Given the description of an element on the screen output the (x, y) to click on. 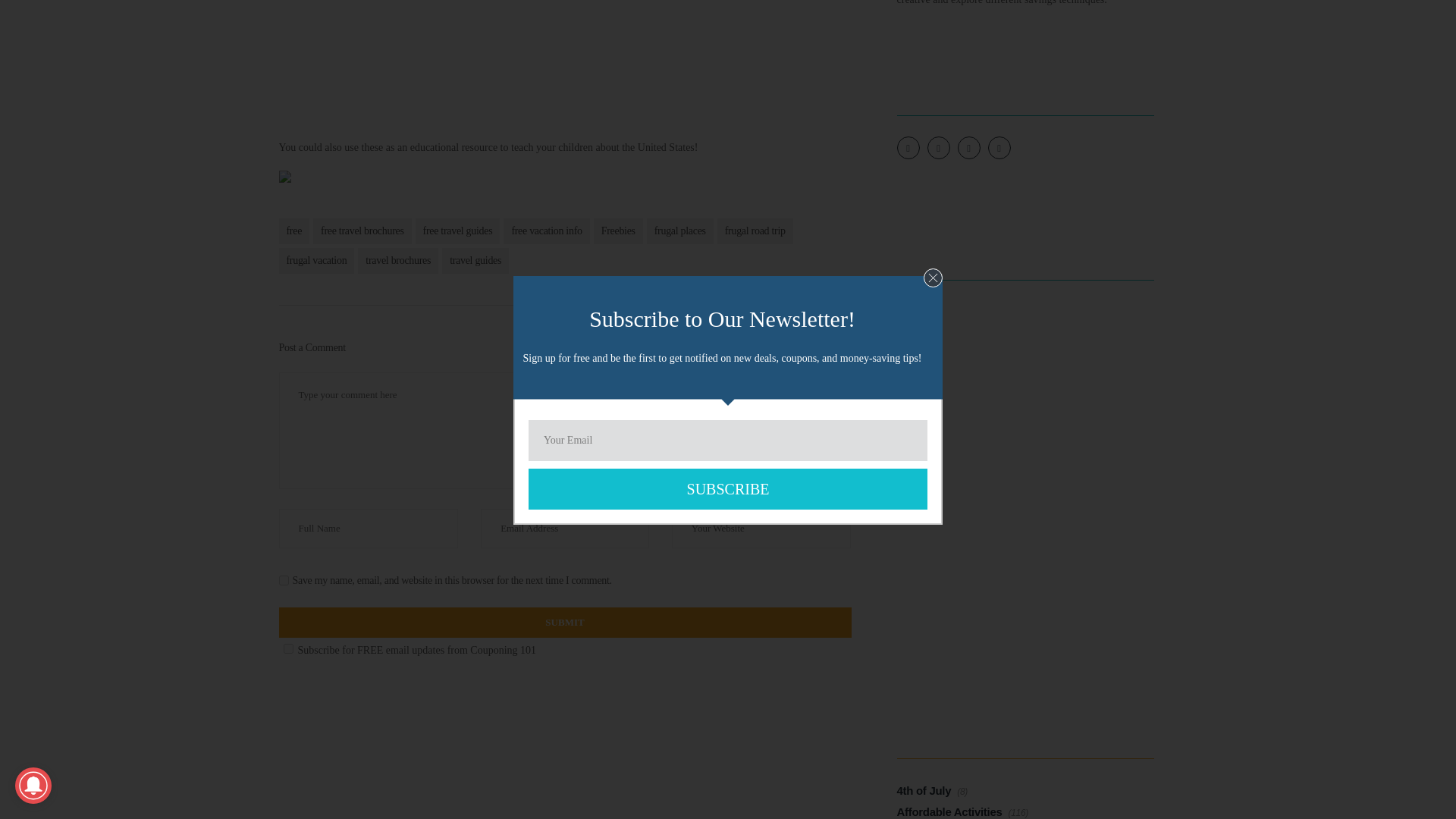
Advertisement (565, 58)
